Given the description of an element on the screen output the (x, y) to click on. 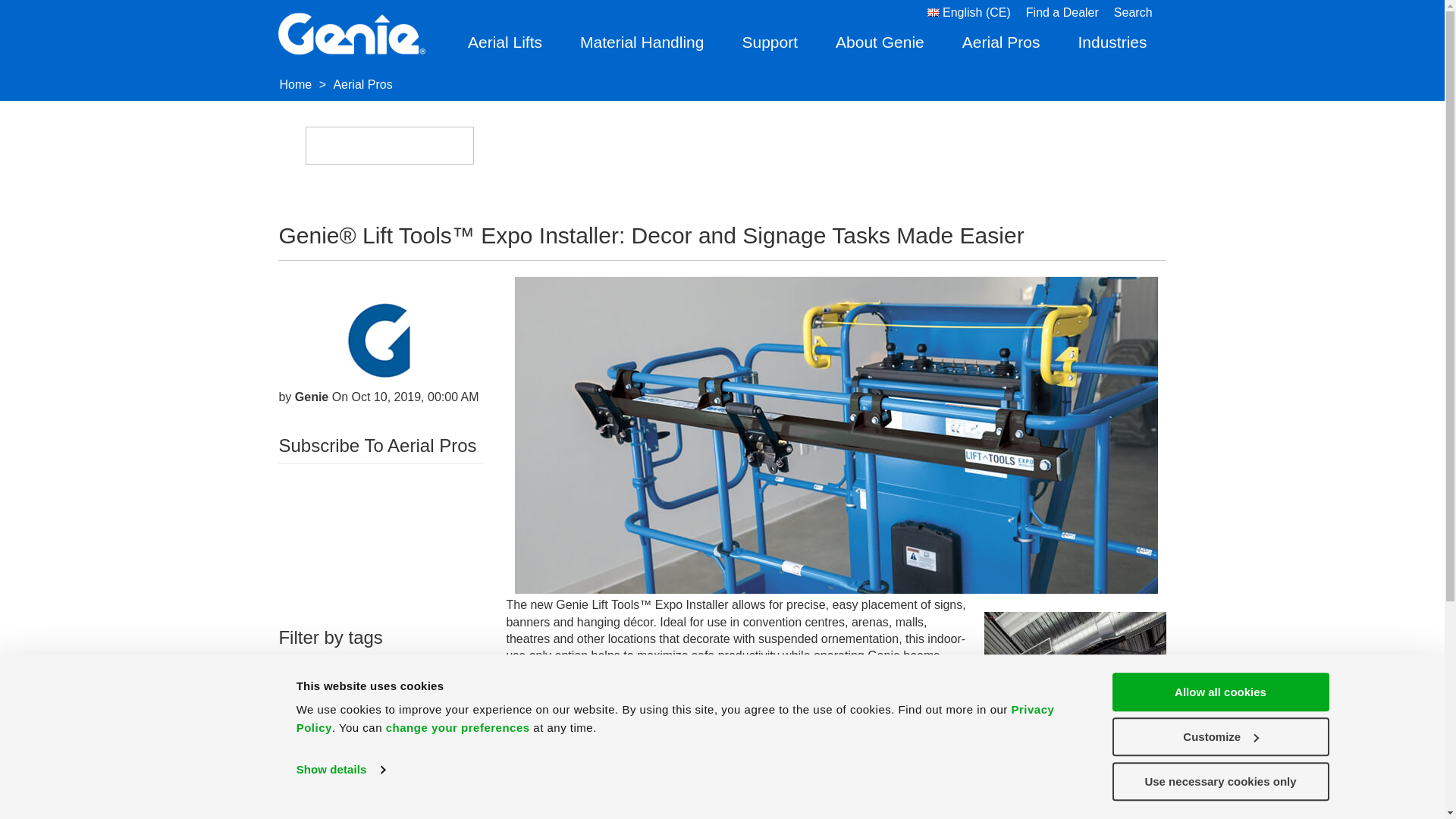
change your preferences (457, 727)
Privacy Policy (675, 717)
Show details (340, 769)
